Given the description of an element on the screen output the (x, y) to click on. 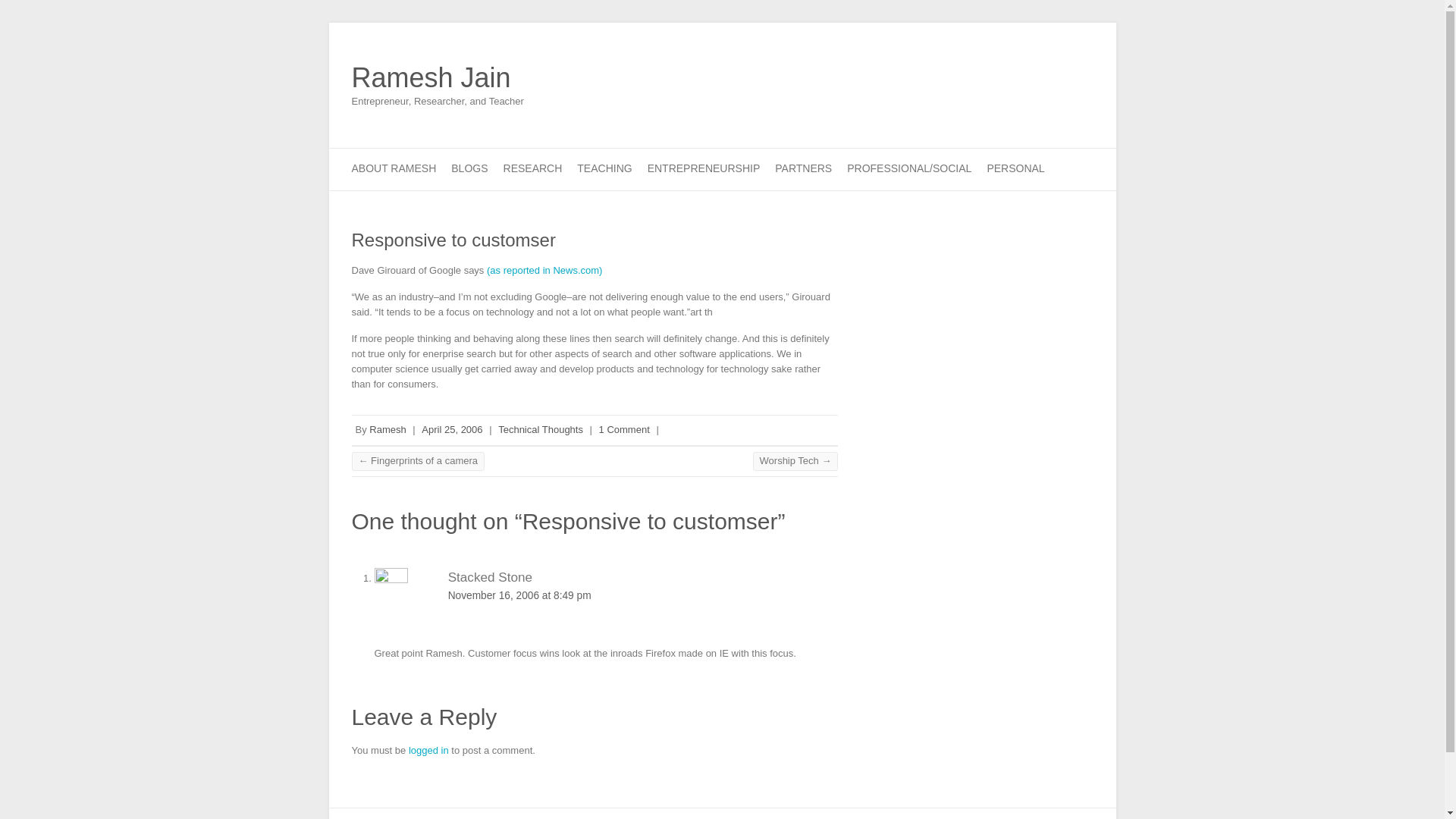
1 Comment (623, 429)
ABOUT RAMESH (394, 169)
ENTREPRENEURSHIP (703, 169)
PARTNERS (802, 169)
April 25, 2006 (451, 429)
PERSONAL (1015, 169)
Ramesh Jain (438, 78)
Ramesh Jain (438, 78)
RESEARCH (532, 169)
TEACHING (603, 169)
Technical Thoughts (540, 429)
Ramesh (387, 429)
8:36 pm (451, 429)
